Given the description of an element on the screen output the (x, y) to click on. 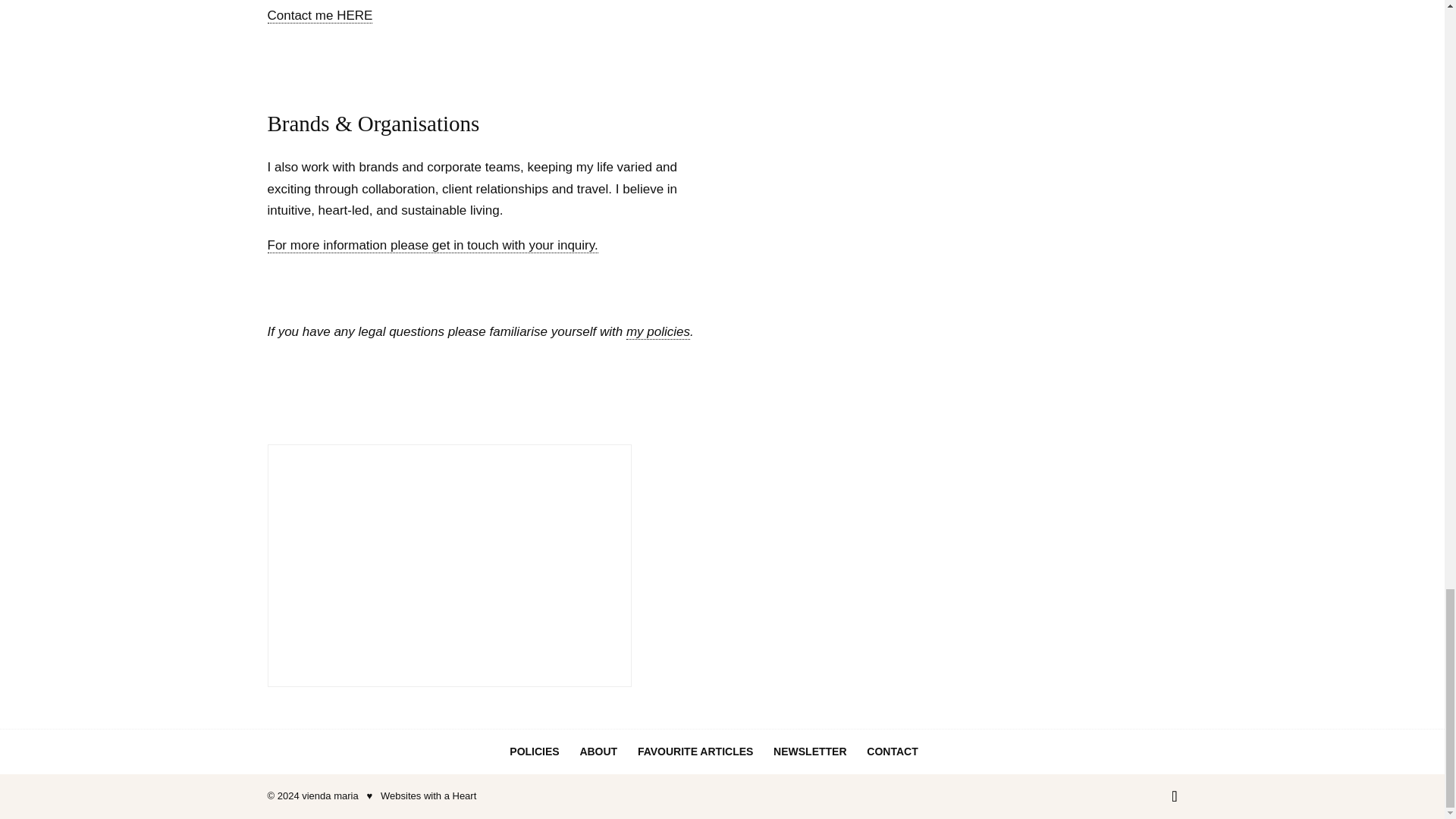
NEWSLETTER (809, 751)
For more information please get in touch with your inquiry. (431, 245)
my policies (658, 331)
CONTACT (891, 751)
ABOUT (598, 751)
Websites with a Heart (428, 795)
POLICIES (534, 751)
Contact me HERE (319, 15)
FAVOURITE ARTICLES (694, 751)
vienda maria (329, 795)
